Given the description of an element on the screen output the (x, y) to click on. 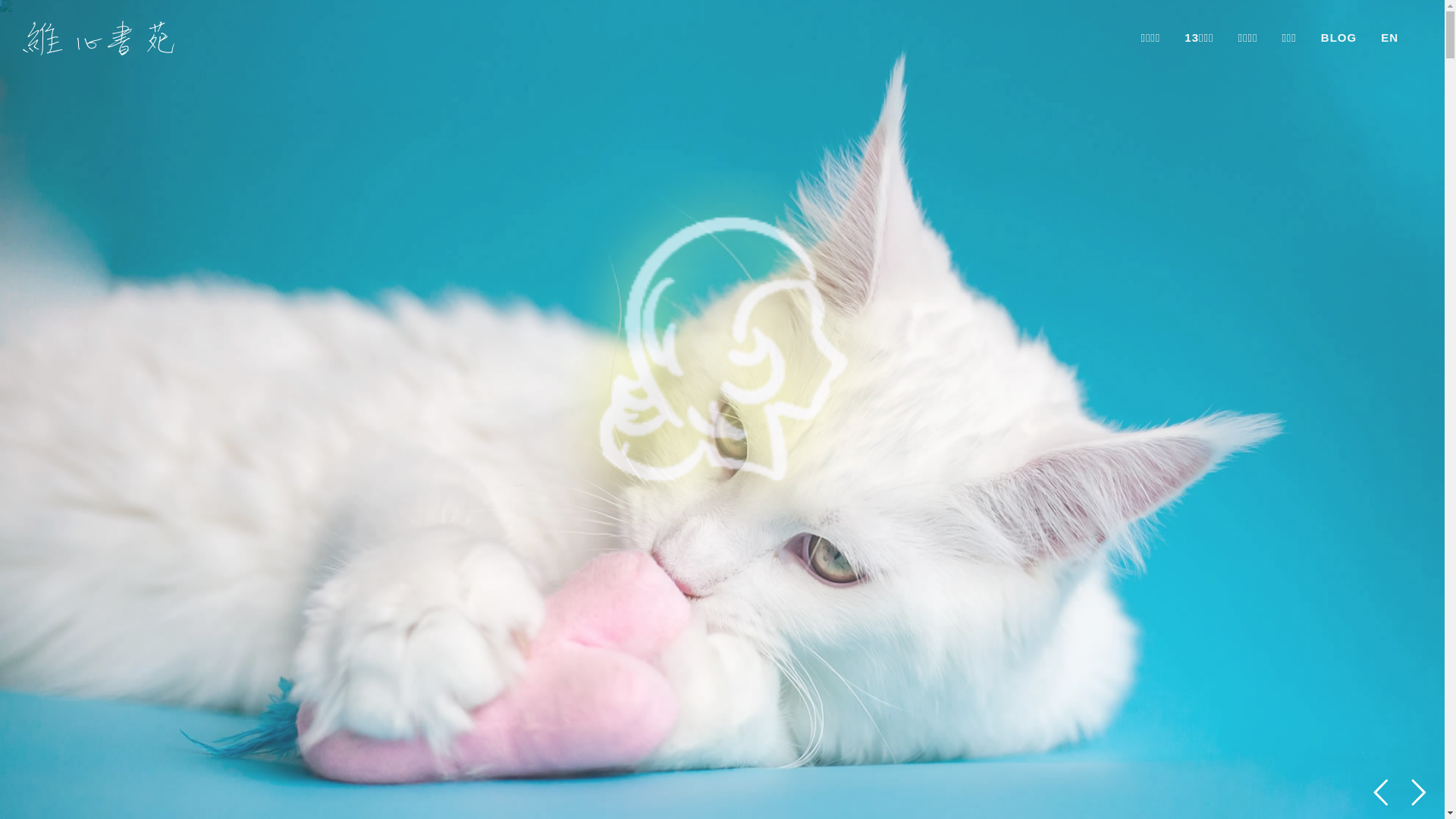
BLOG Element type: text (1338, 37)
EN Element type: text (1389, 37)
